Given the description of an element on the screen output the (x, y) to click on. 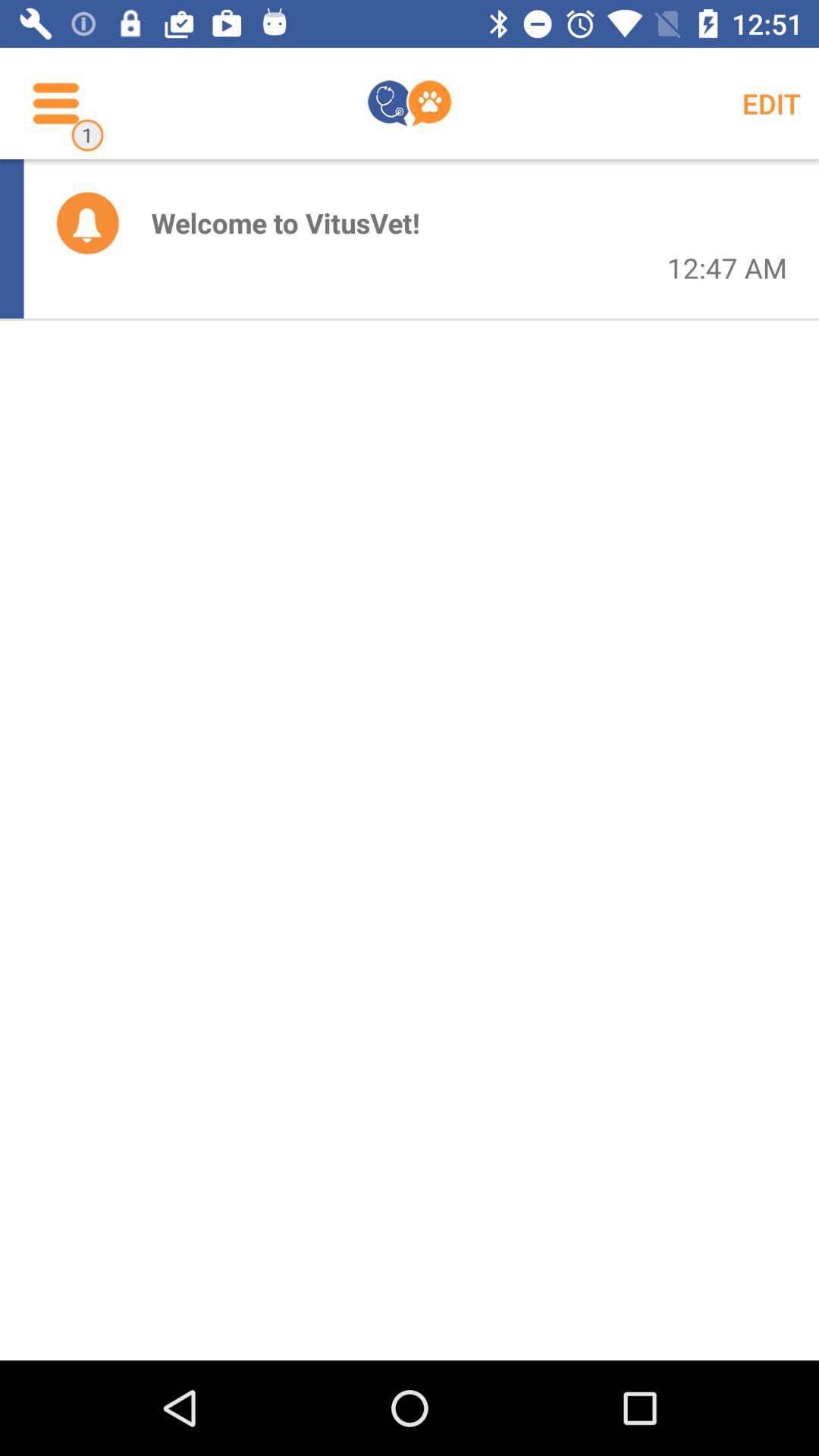
swipe until the edit icon (771, 103)
